Given the description of an element on the screen output the (x, y) to click on. 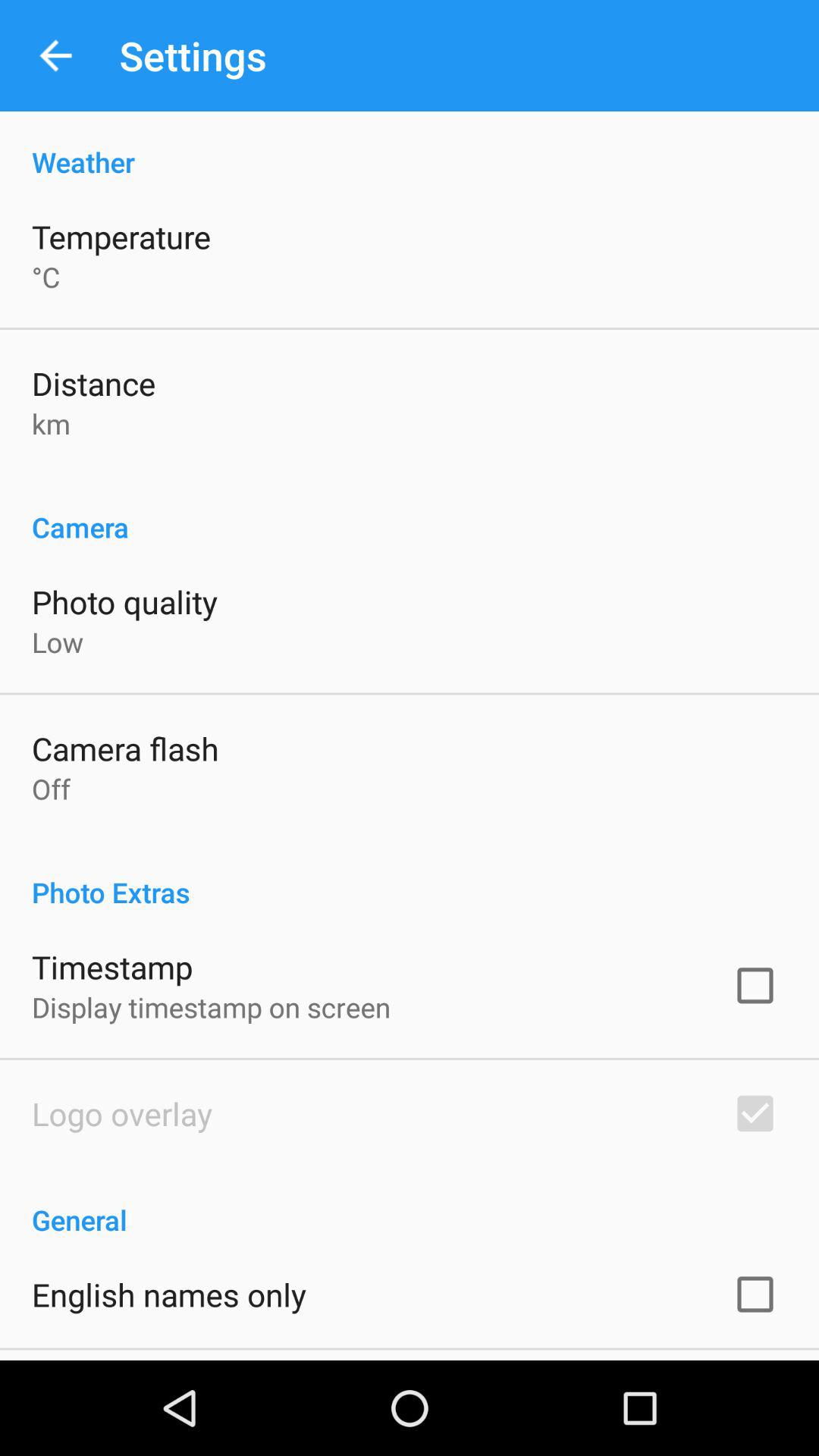
scroll until distance (93, 382)
